Given the description of an element on the screen output the (x, y) to click on. 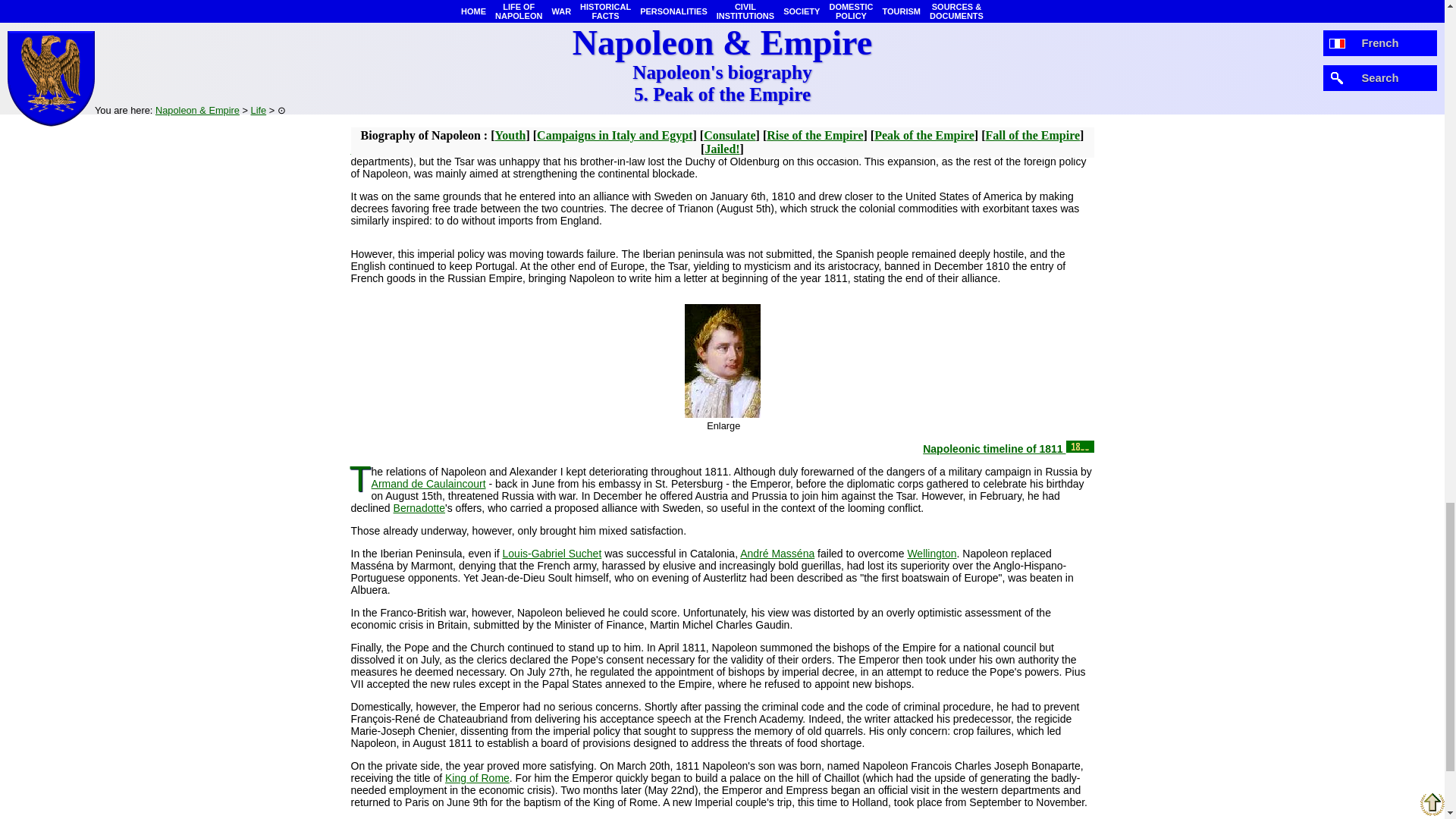
Napoleonic timeline of 1811 (1008, 449)
Louis Bonaparte (703, 143)
